Given the description of an element on the screen output the (x, y) to click on. 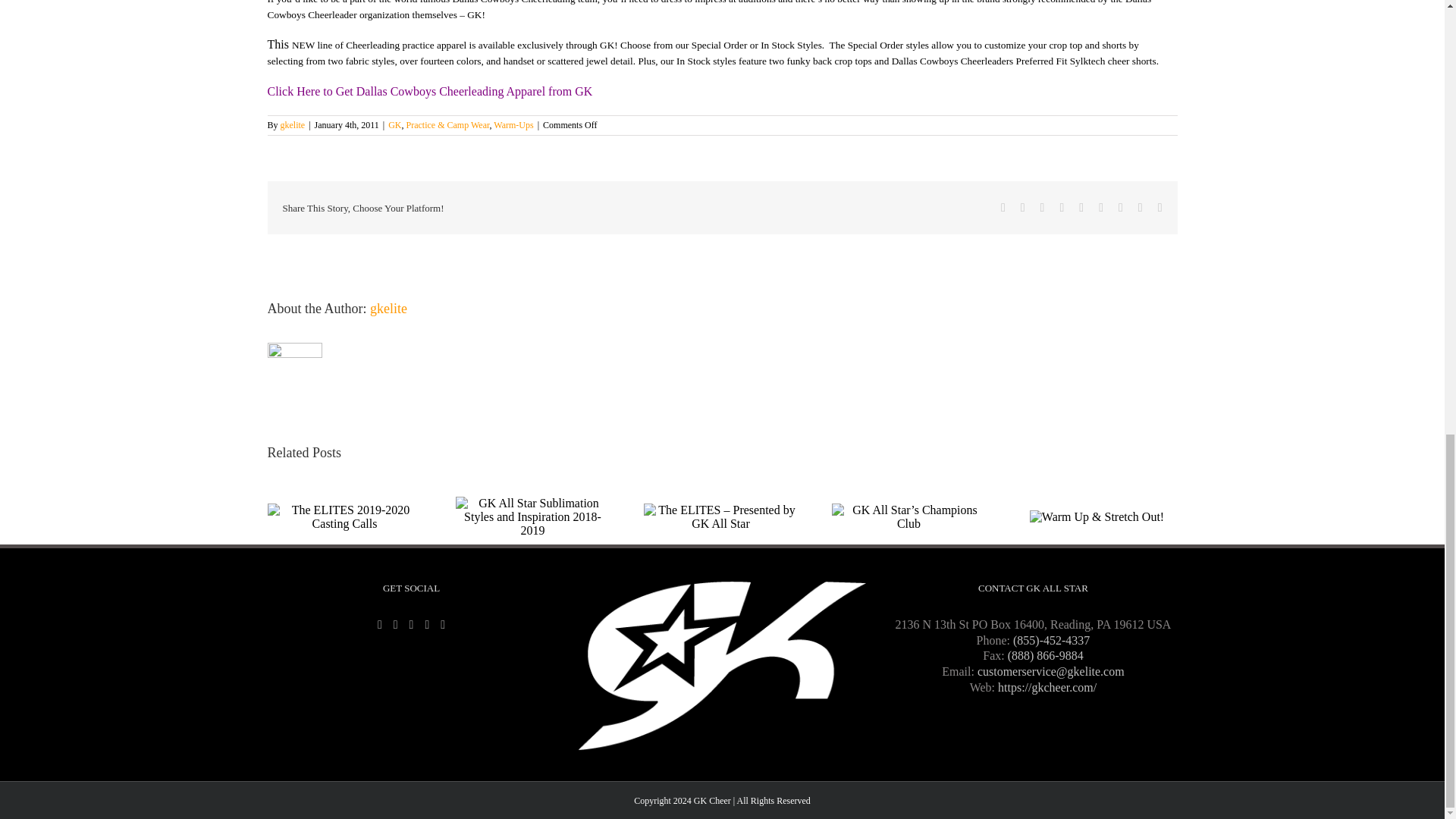
GK (394, 124)
Vk (1140, 207)
Facebook (1003, 207)
Posts by gkelite (293, 124)
LinkedIn (1061, 207)
gkelite (293, 124)
Tumblr (1101, 207)
Pinterest (1120, 207)
Reddit (1043, 207)
Warm-Ups (512, 124)
Email (1159, 207)
gkelite (388, 308)
Shop Dallas Cowboys Cheerleaders Audition Apparel (429, 91)
WhatsApp (1080, 207)
